Given the description of an element on the screen output the (x, y) to click on. 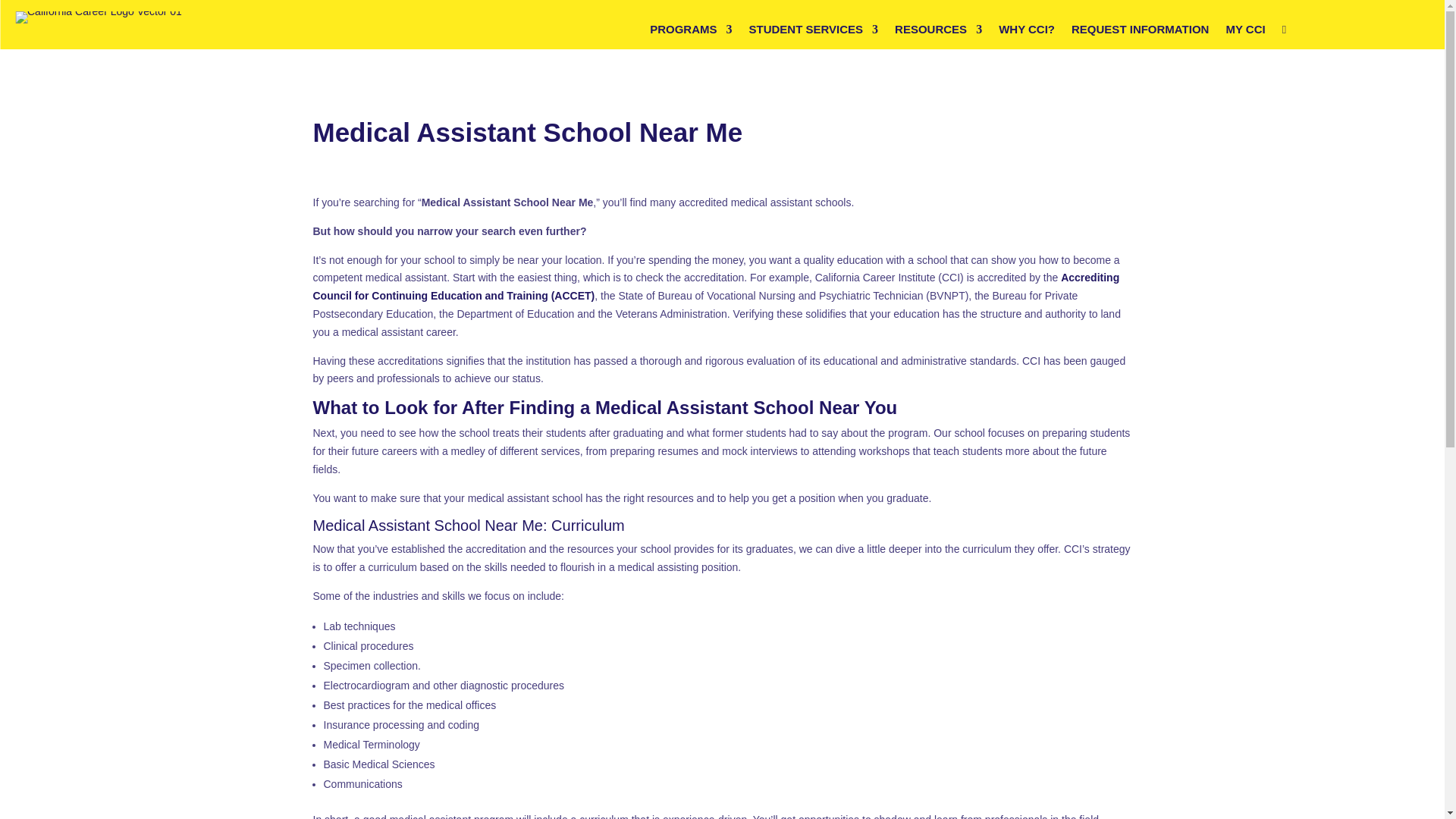
California-Career-Logo-Vector-01 (98, 17)
PROGRAMS (690, 32)
MY CCI (1245, 32)
WHY CCI? (1026, 32)
REQUEST INFORMATION (1139, 32)
RESOURCES (938, 32)
STUDENT SERVICES (814, 32)
